Given the description of an element on the screen output the (x, y) to click on. 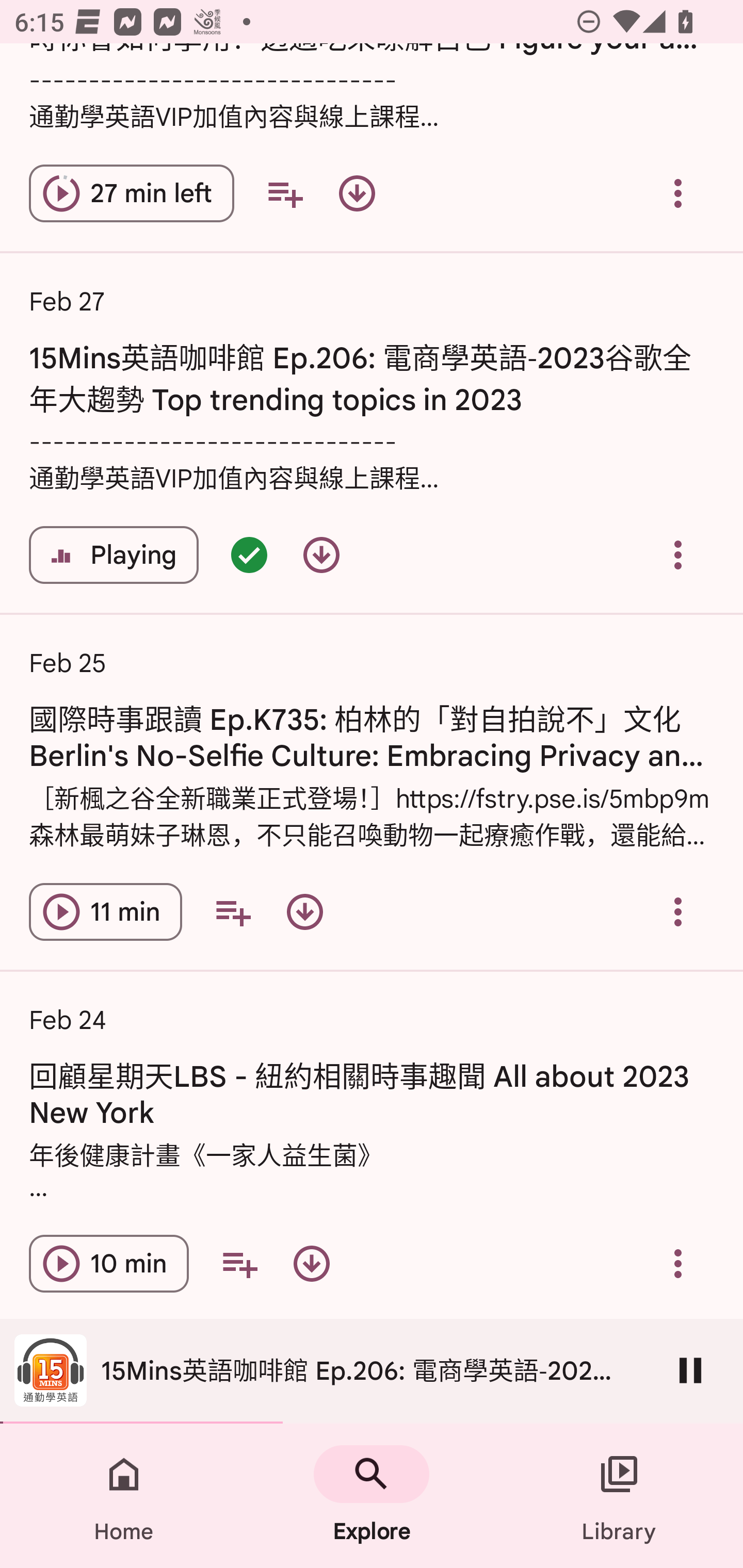
Add to your queue (284, 193)
Download episode (356, 193)
Overflow menu (677, 193)
Episode queued - double tap for options (249, 554)
Download episode (321, 554)
Overflow menu (677, 554)
Add to your queue (232, 911)
Download episode (304, 911)
Overflow menu (677, 911)
Add to your queue (239, 1263)
Download episode (311, 1263)
Overflow menu (677, 1263)
Pause (690, 1370)
Home (123, 1495)
Library (619, 1495)
